Given the description of an element on the screen output the (x, y) to click on. 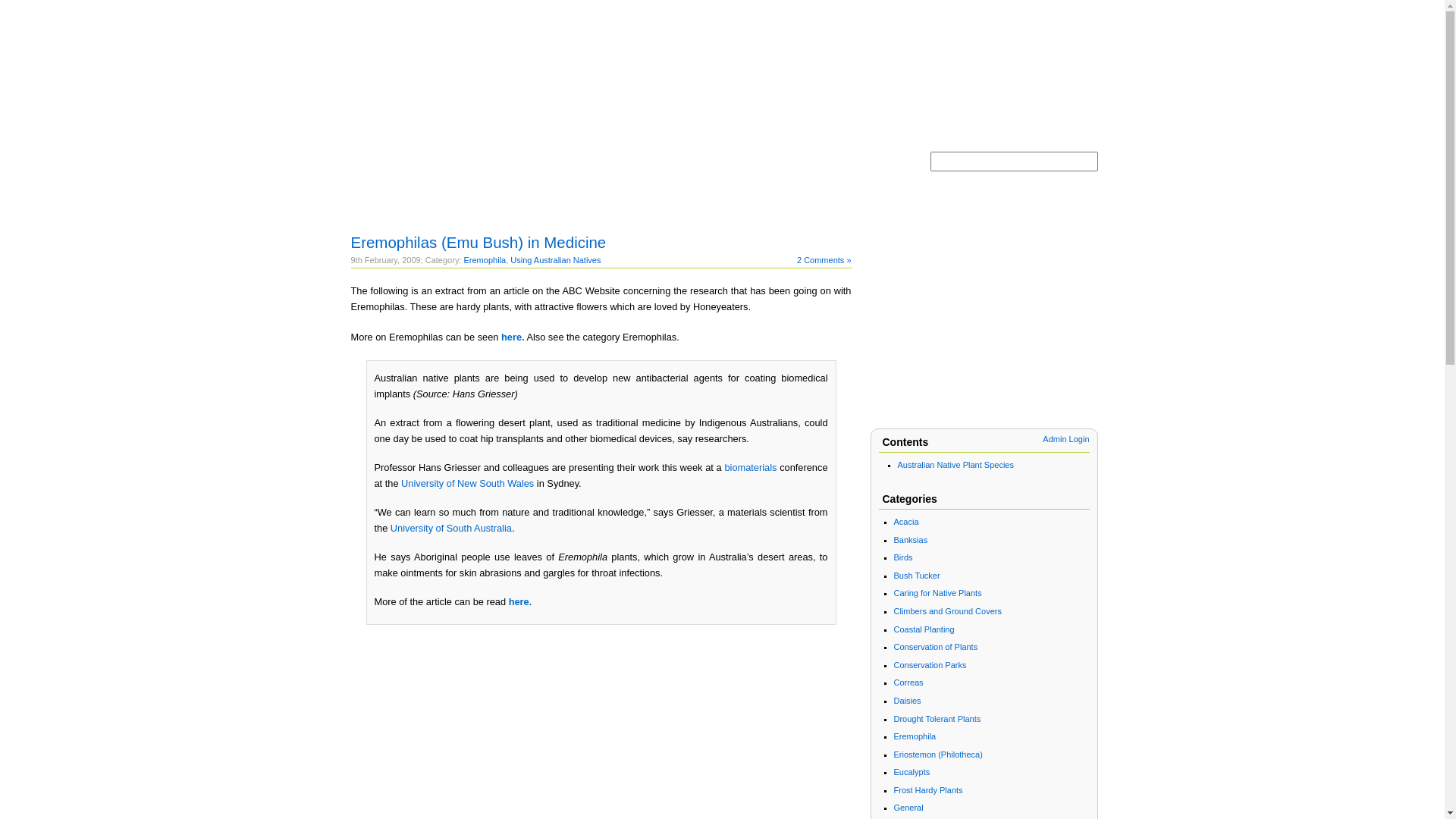
Australian Native Plant Species Element type: text (955, 464)
Eremophila Element type: text (485, 259)
Mallee Native Plants Element type: text (722, 41)
Caring for Native Plants Element type: text (937, 592)
Climbers and Ground Covers Element type: text (947, 610)
biomaterials Element type: text (750, 467)
Birds Element type: text (902, 556)
Eremophilas (Emu Bush) in Medicine Element type: text (477, 242)
here. Element type: text (512, 336)
Drought Tolerant Plants Element type: text (936, 718)
Contact Element type: text (679, 170)
Archives Element type: text (530, 170)
General Element type: text (907, 807)
Eremophila Element type: text (914, 735)
Acacia Element type: text (905, 521)
Bush Tucker Element type: text (916, 575)
About Element type: text (450, 170)
Coastal Planting Element type: text (923, 628)
Correas Element type: text (907, 682)
Conservation of Plants Element type: text (935, 646)
University of New South Wales Element type: text (467, 483)
Conservation Parks Element type: text (929, 664)
here. Element type: text (520, 601)
Eucalypts Element type: text (911, 771)
Banksias Element type: text (910, 539)
Frost Hardy Plants Element type: text (927, 789)
Search Element type: text (1085, 182)
Blog RSS Element type: text (808, 170)
Daisies Element type: text (906, 700)
Eriostemon (Philotheca) Element type: text (937, 754)
Home Element type: text (381, 170)
Admin Login Element type: text (1065, 438)
University of South Australia Element type: text (450, 527)
Using Australian Natives Element type: text (555, 259)
Links Element type: text (606, 170)
